Given the description of an element on the screen output the (x, y) to click on. 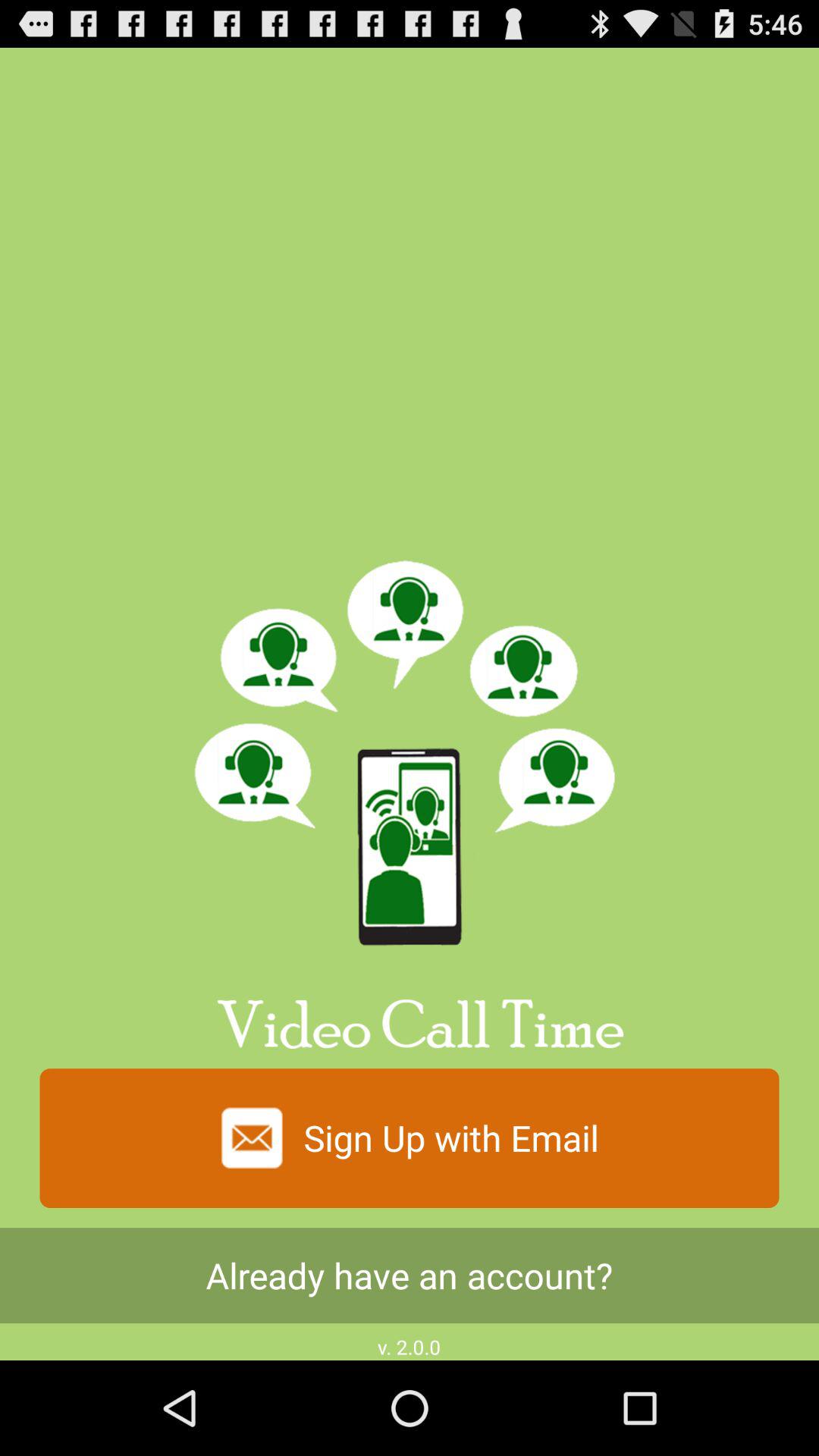
launch the already have an item (409, 1275)
